Given the description of an element on the screen output the (x, y) to click on. 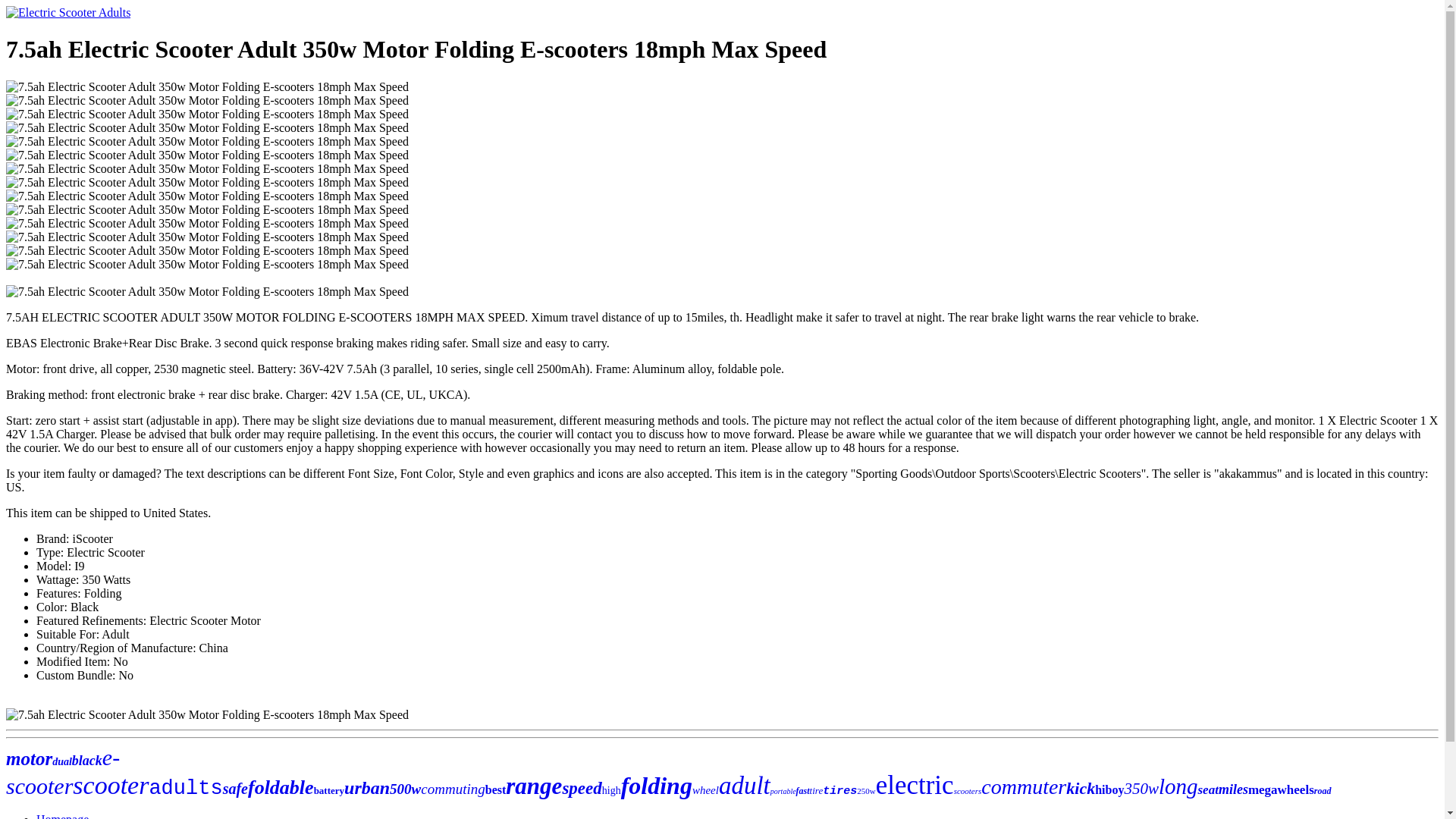
folding (657, 785)
kick (1079, 787)
fast (802, 790)
range (533, 786)
motor (28, 758)
